Given the description of an element on the screen output the (x, y) to click on. 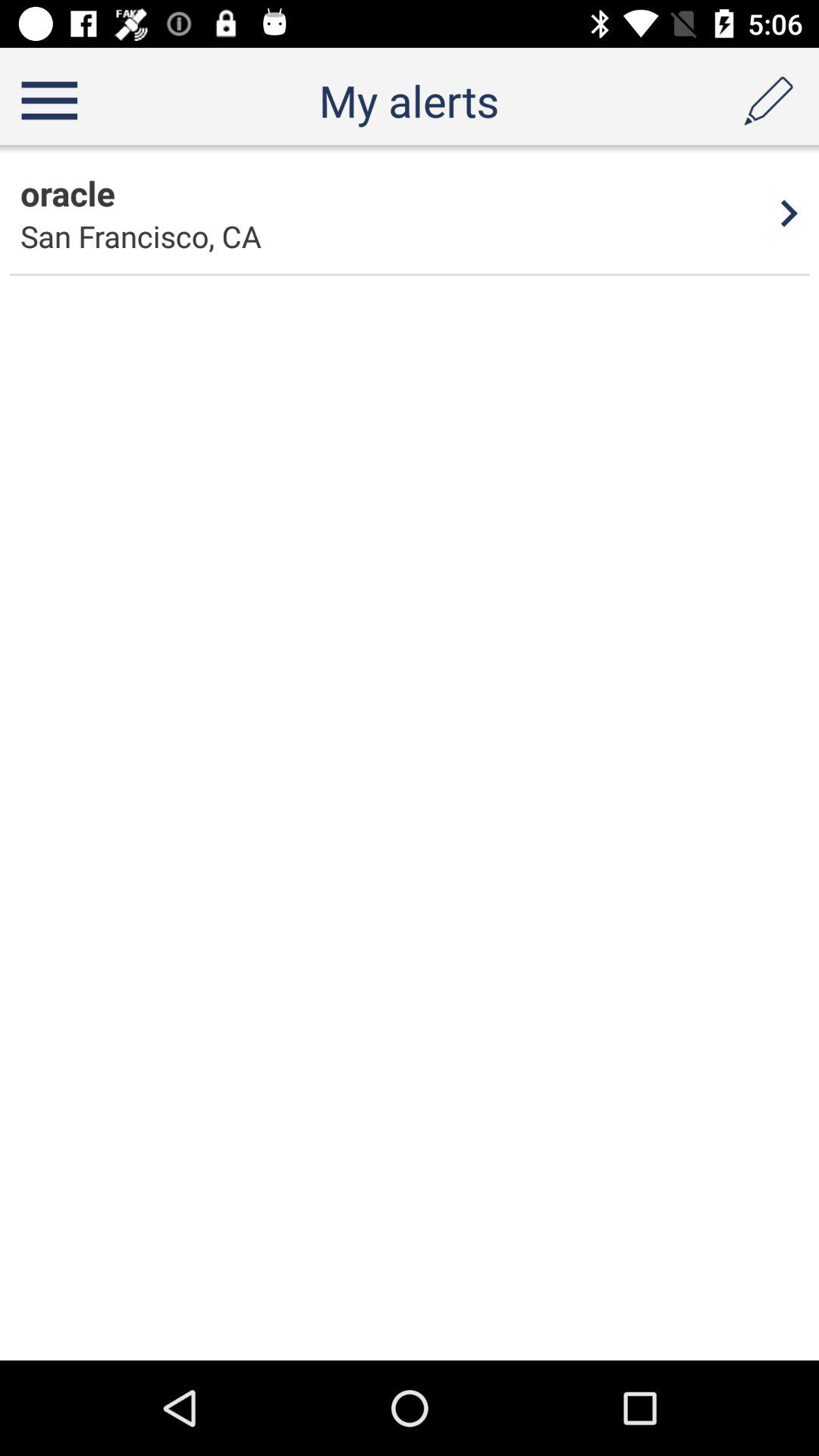
tap oracle item (67, 193)
